Given the description of an element on the screen output the (x, y) to click on. 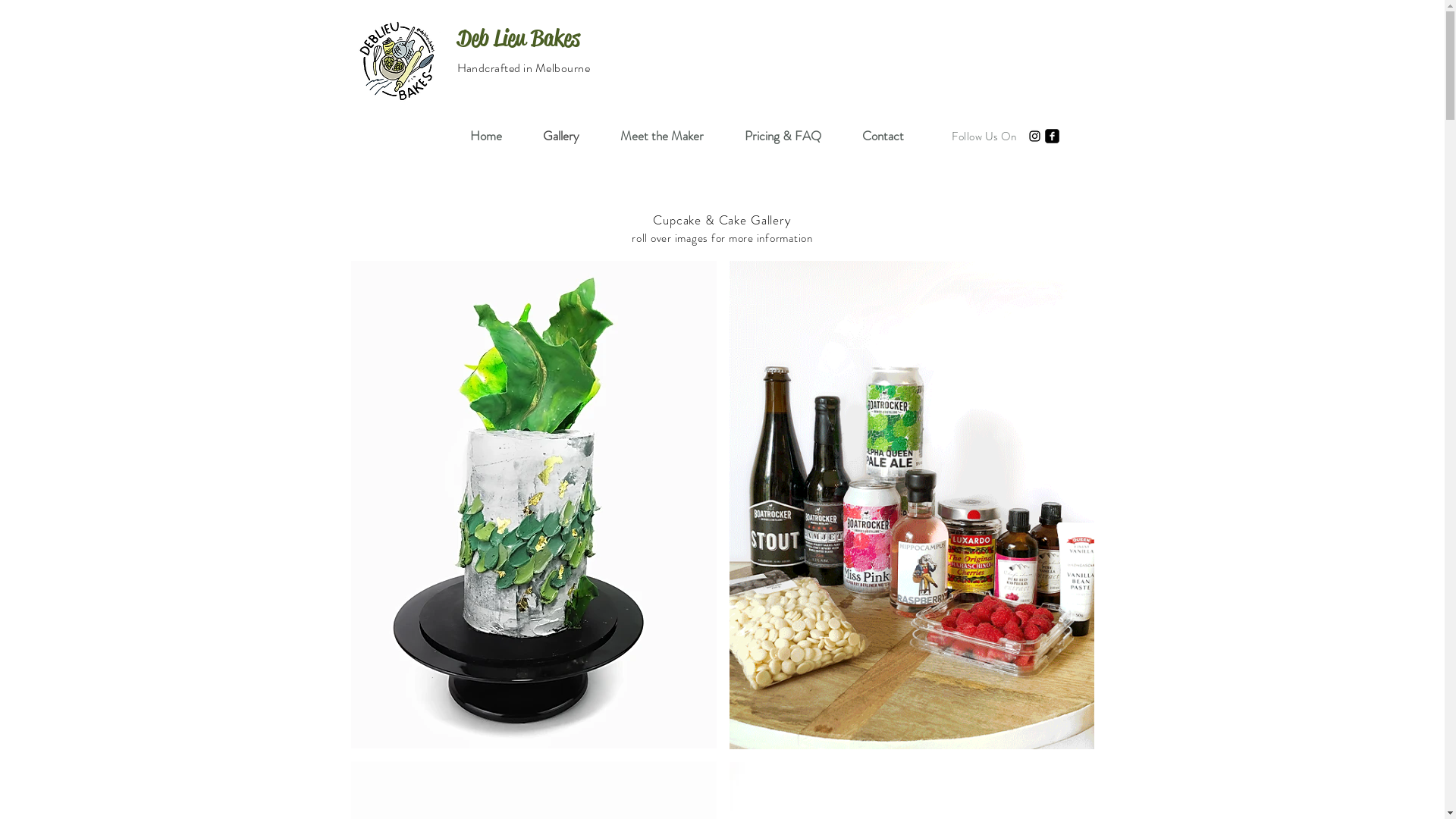
Contact Element type: text (882, 135)
Meet the Maker Element type: text (661, 135)
Pricing & FAQ Element type: text (781, 135)
Deb Lieu Bakes Element type: text (517, 37)
Home Element type: text (484, 135)
Gallery Element type: text (560, 135)
